Given the description of an element on the screen output the (x, y) to click on. 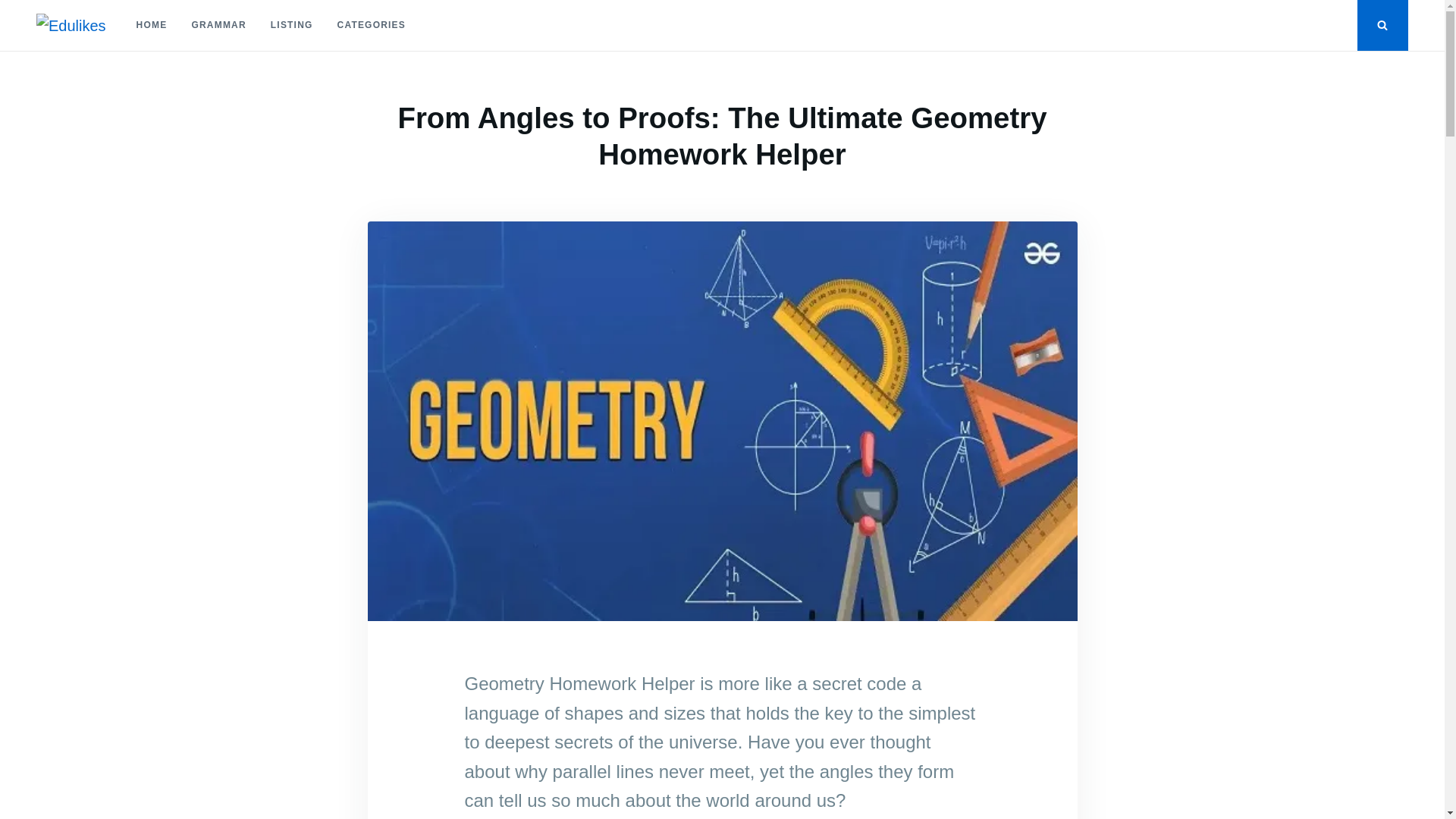
Edulikes (74, 48)
GRAMMAR (218, 25)
HOME (151, 25)
LISTING (291, 25)
